Given the description of an element on the screen output the (x, y) to click on. 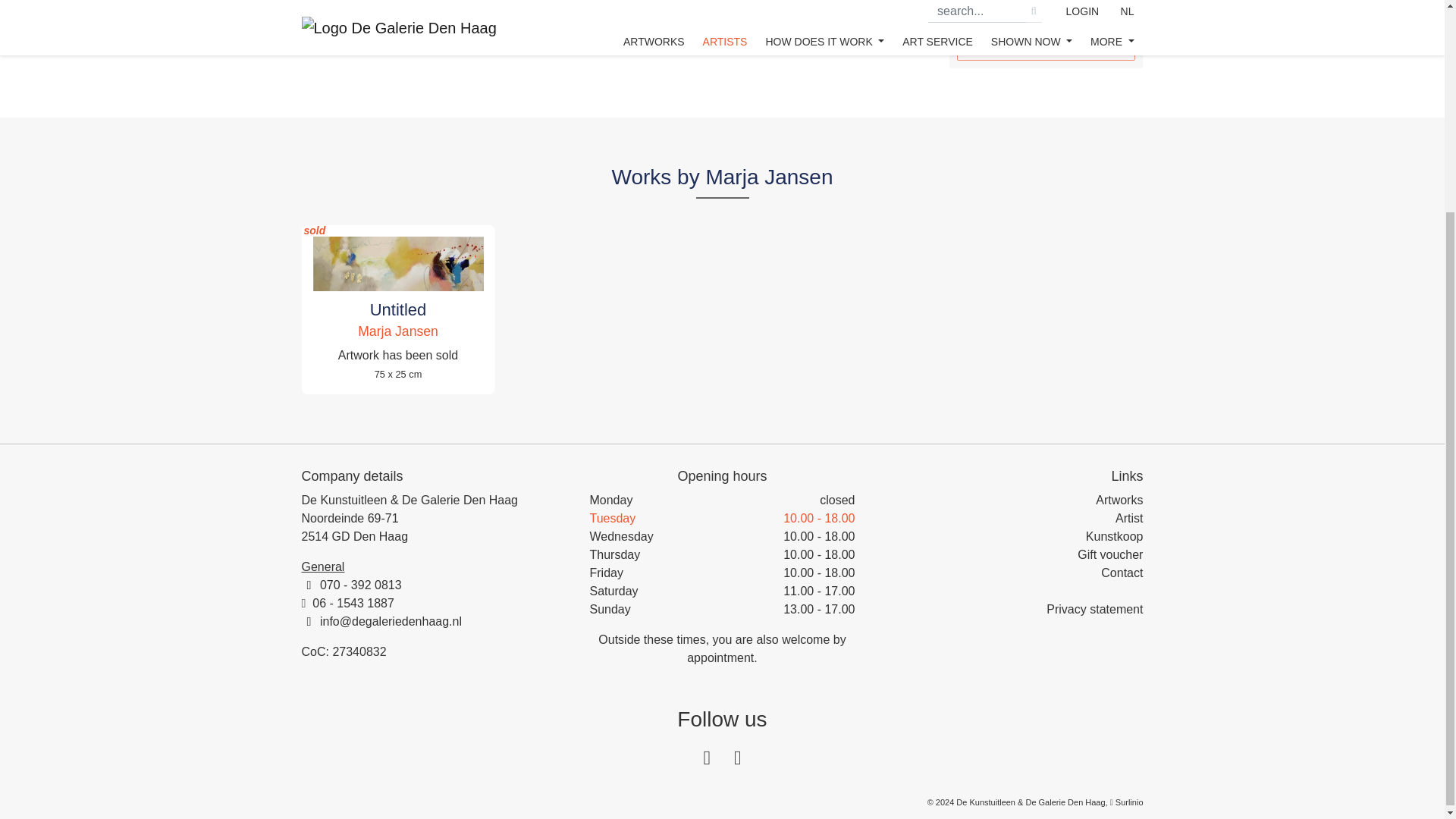
Follow (1045, 45)
Artworks (1119, 499)
Contact (1121, 572)
Marja Jansen (398, 331)
070 - 392 0813 (360, 584)
Privacy statement (1094, 608)
Kunstkoop (1114, 535)
Artist (1128, 517)
Untitled (397, 309)
06 - 1543 1887 (353, 603)
Surlinio (1128, 801)
Gift voucher (1109, 554)
